Given the description of an element on the screen output the (x, y) to click on. 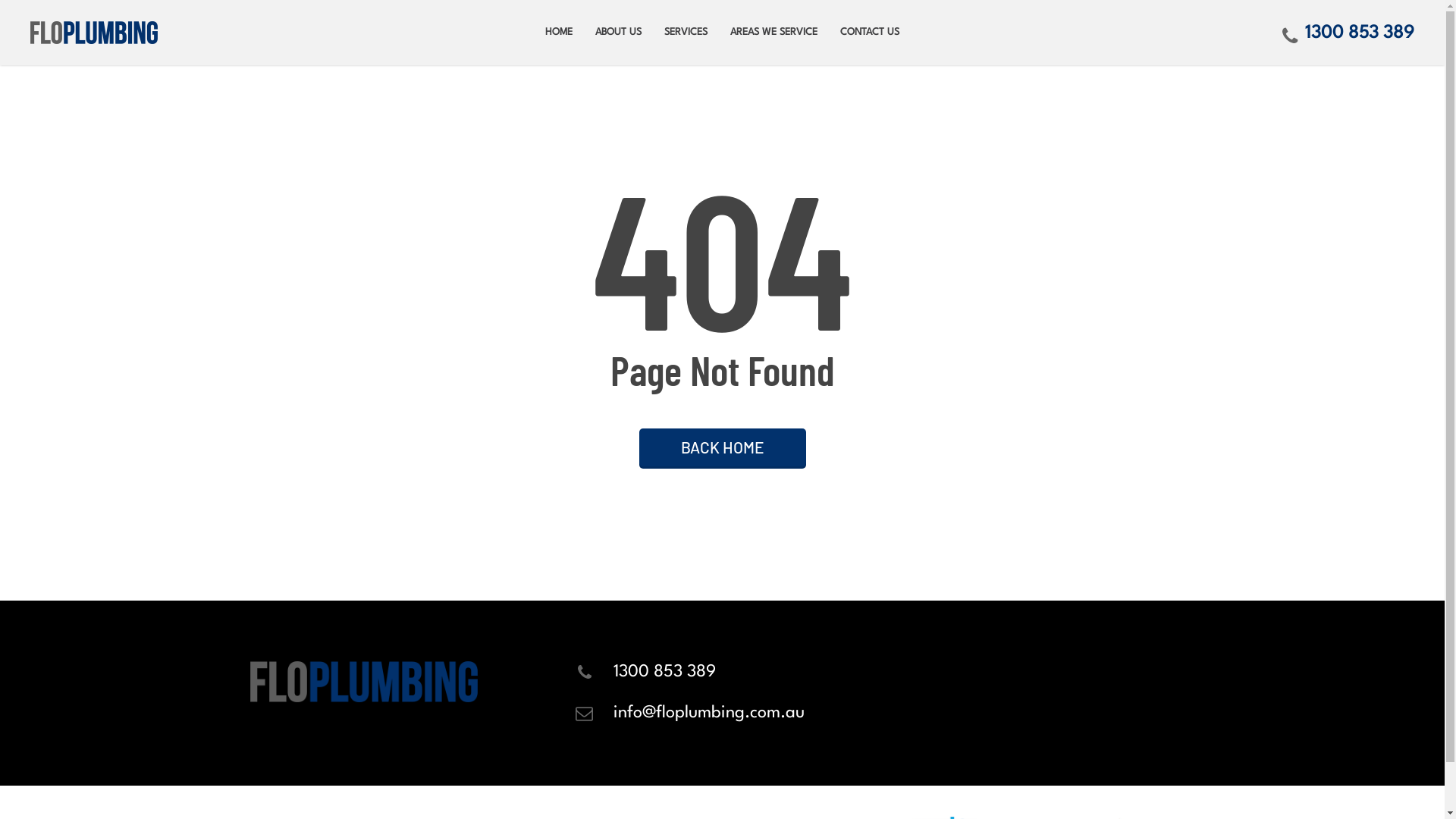
BACK HOME Element type: text (721, 447)
HOME Element type: text (558, 32)
ABOUT US Element type: text (617, 32)
AREAS WE SERVICE Element type: text (773, 32)
CONTACT US Element type: text (869, 32)
info@floplumbing.com.au Element type: text (708, 712)
SERVICES Element type: text (685, 32)
1300 853 389 Element type: text (1348, 32)
1300 853 389 Element type: text (664, 671)
